Given the description of an element on the screen output the (x, y) to click on. 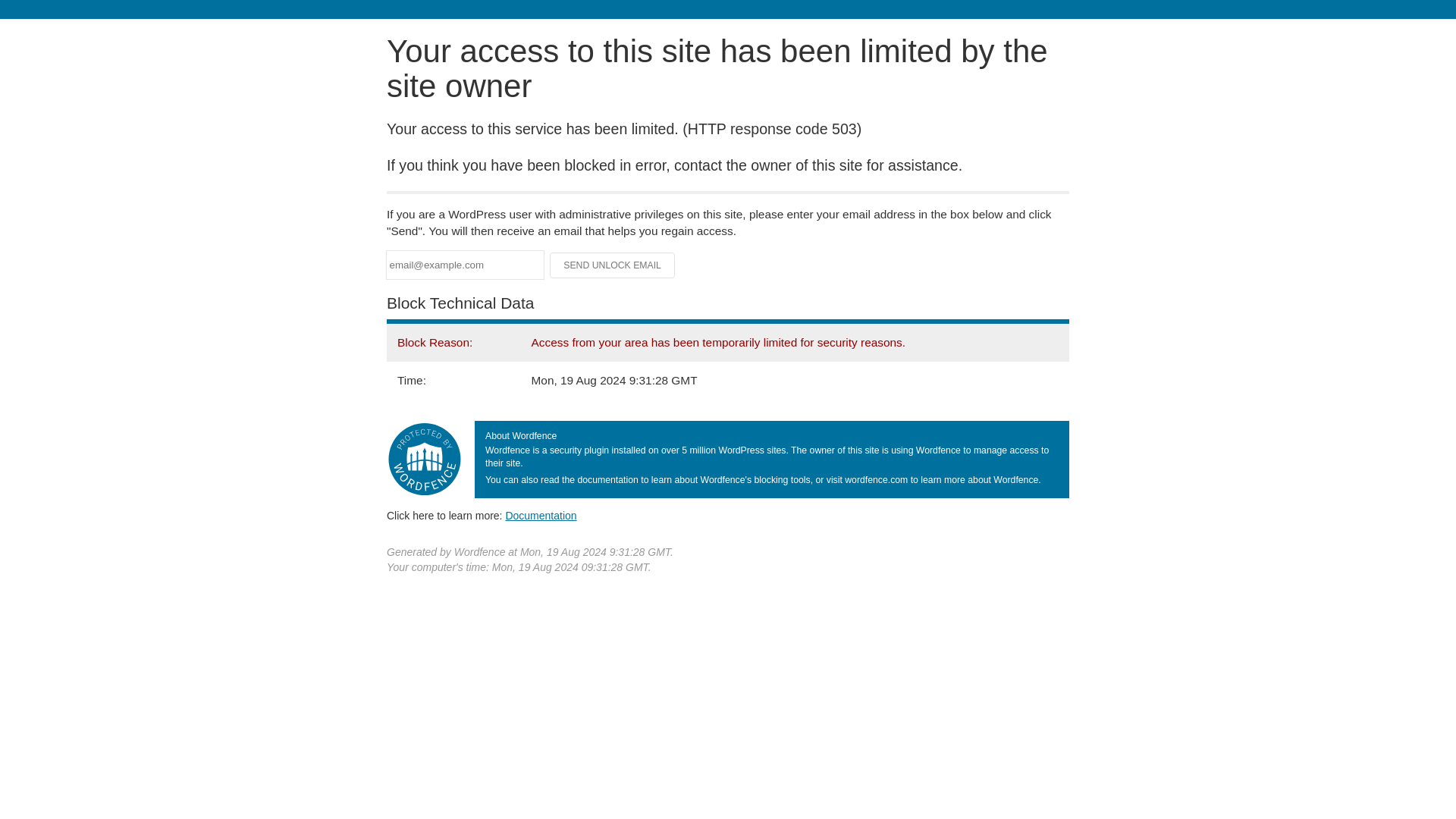
Send Unlock Email (612, 265)
Send Unlock Email (612, 265)
Documentation (540, 515)
